Given the description of an element on the screen output the (x, y) to click on. 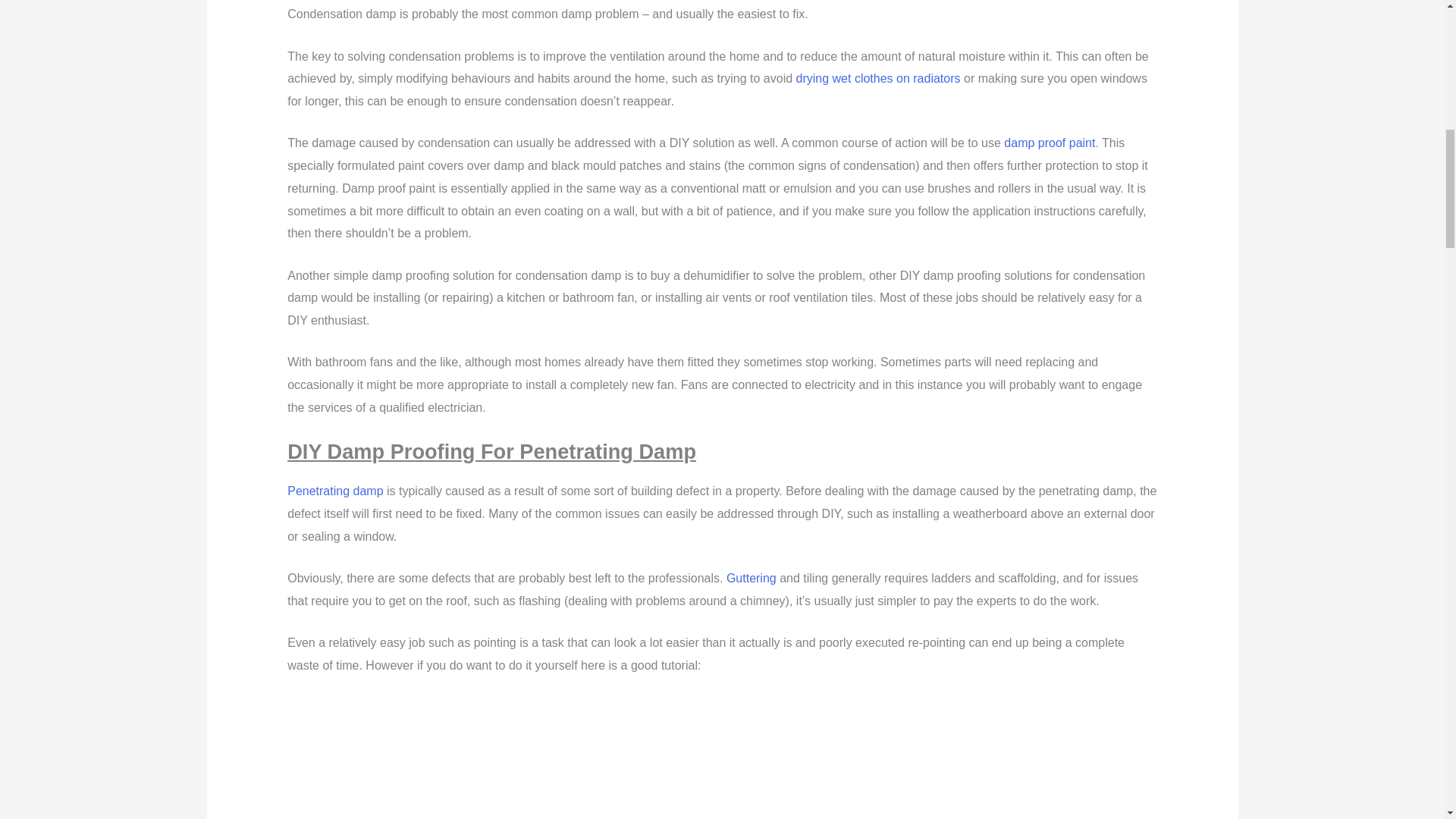
How to repoint old brickwork (721, 757)
drying wet clothes on radiators (878, 78)
damp proof paint (1049, 142)
Penetrating damp (334, 490)
Guttering (751, 577)
